Given the description of an element on the screen output the (x, y) to click on. 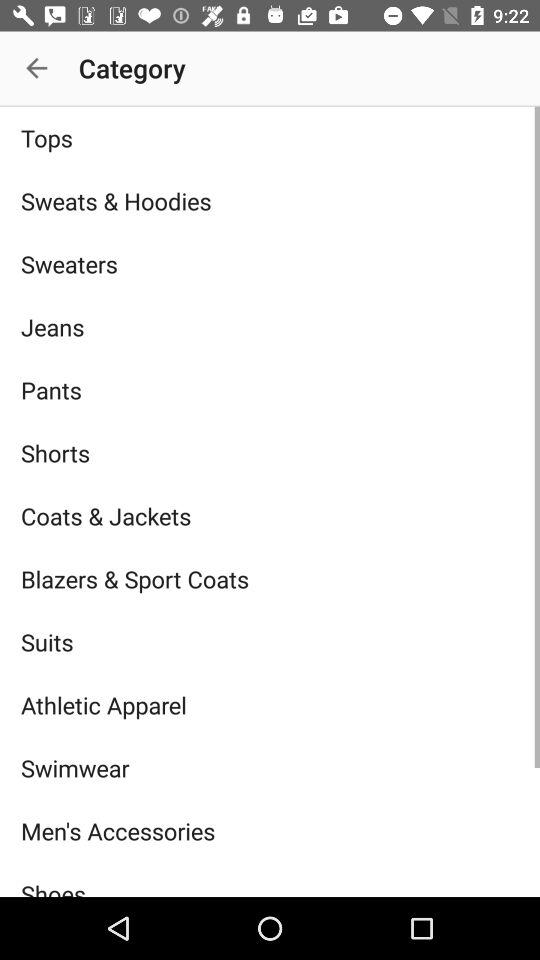
turn on icon to the left of category (36, 68)
